Given the description of an element on the screen output the (x, y) to click on. 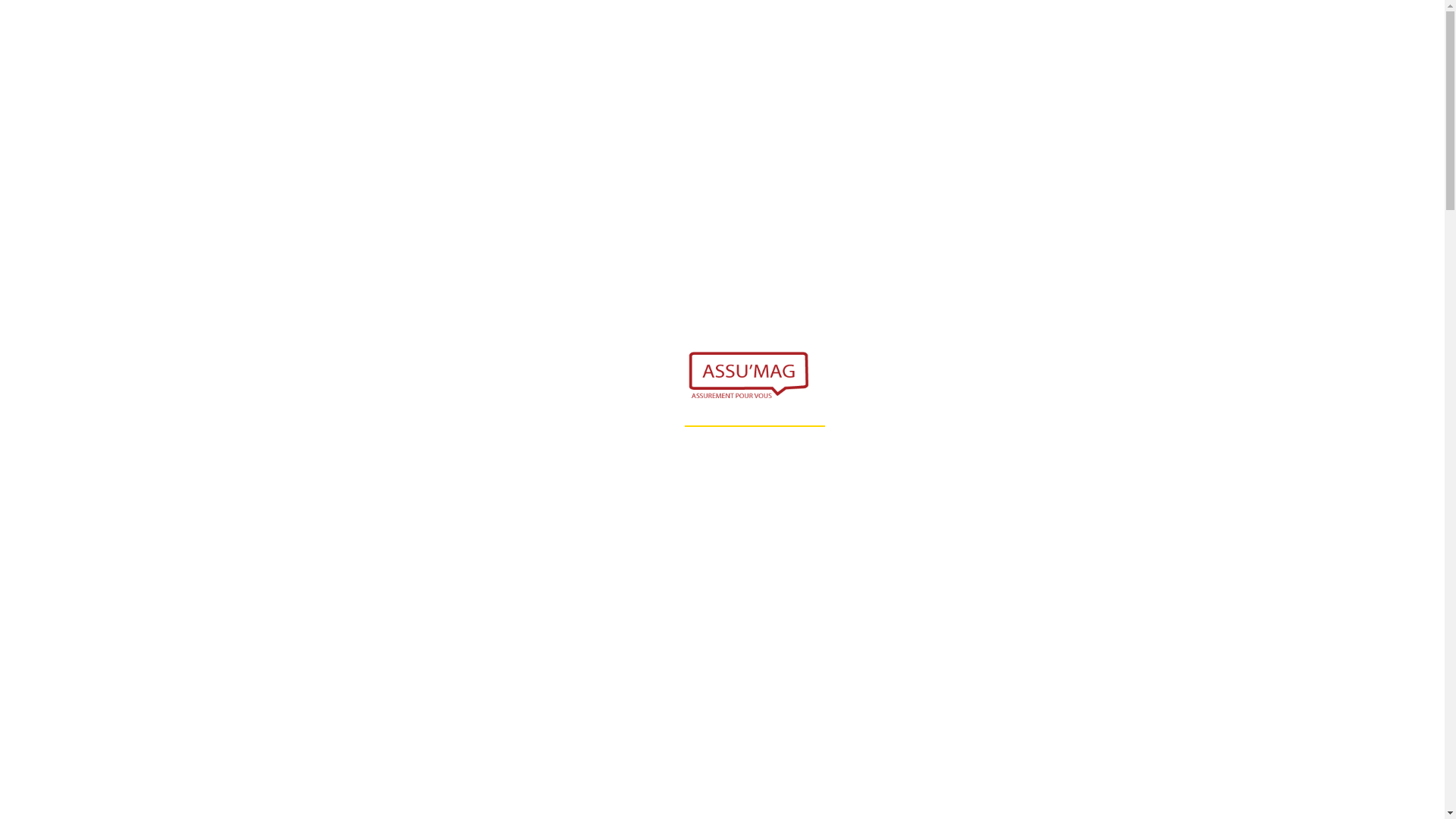
Plus Element type: text (269, 143)
Search Element type: text (1132, 30)
ASSU' MAG Element type: text (284, 134)
Sciences et technologies Element type: text (317, 112)
Se connecter Element type: hover (1167, 30)
NOS ARTICLES Element type: text (359, 134)
Art et culture Element type: text (289, 97)
